Given the description of an element on the screen output the (x, y) to click on. 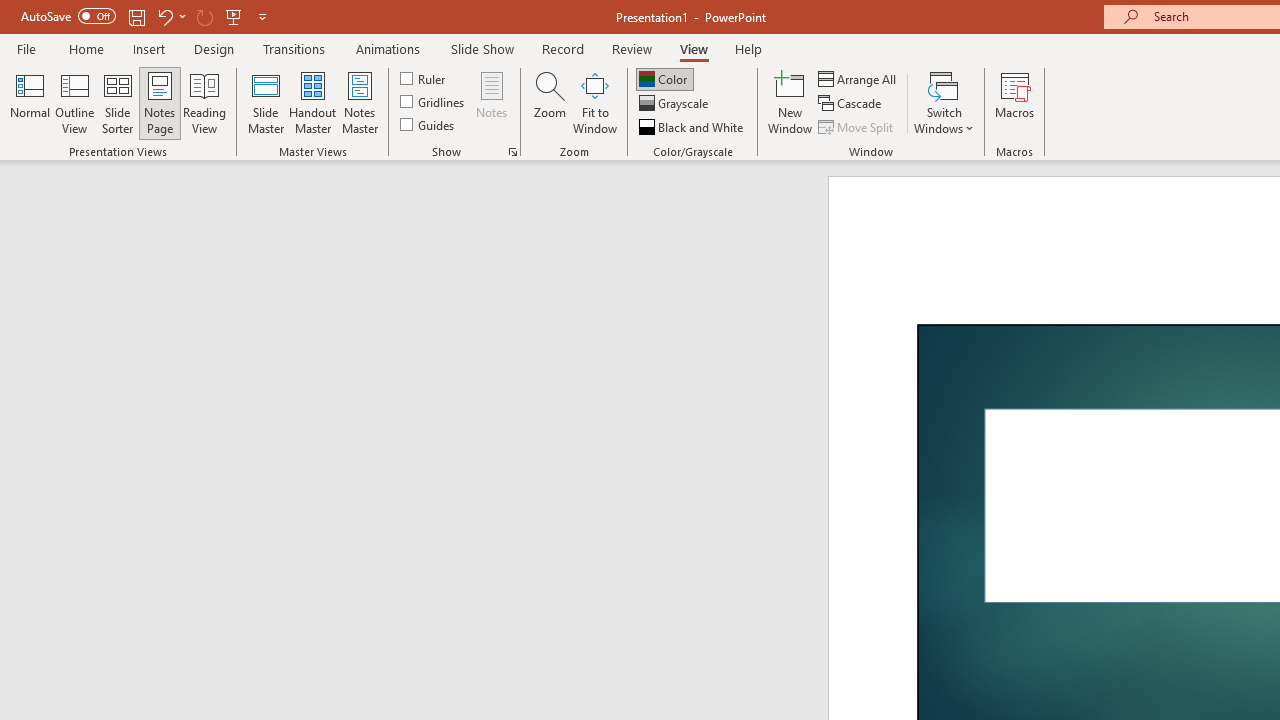
Fit to Window (594, 102)
Home (86, 48)
Save (136, 15)
System (10, 11)
Customize Quick Access Toolbar (262, 15)
More Options (182, 15)
System (10, 11)
Gridlines (433, 101)
From Beginning (234, 15)
Design (214, 48)
Undo (164, 15)
Animations (388, 48)
AutoSave (68, 16)
Redo (204, 15)
Switch Windows (943, 102)
